Given the description of an element on the screen output the (x, y) to click on. 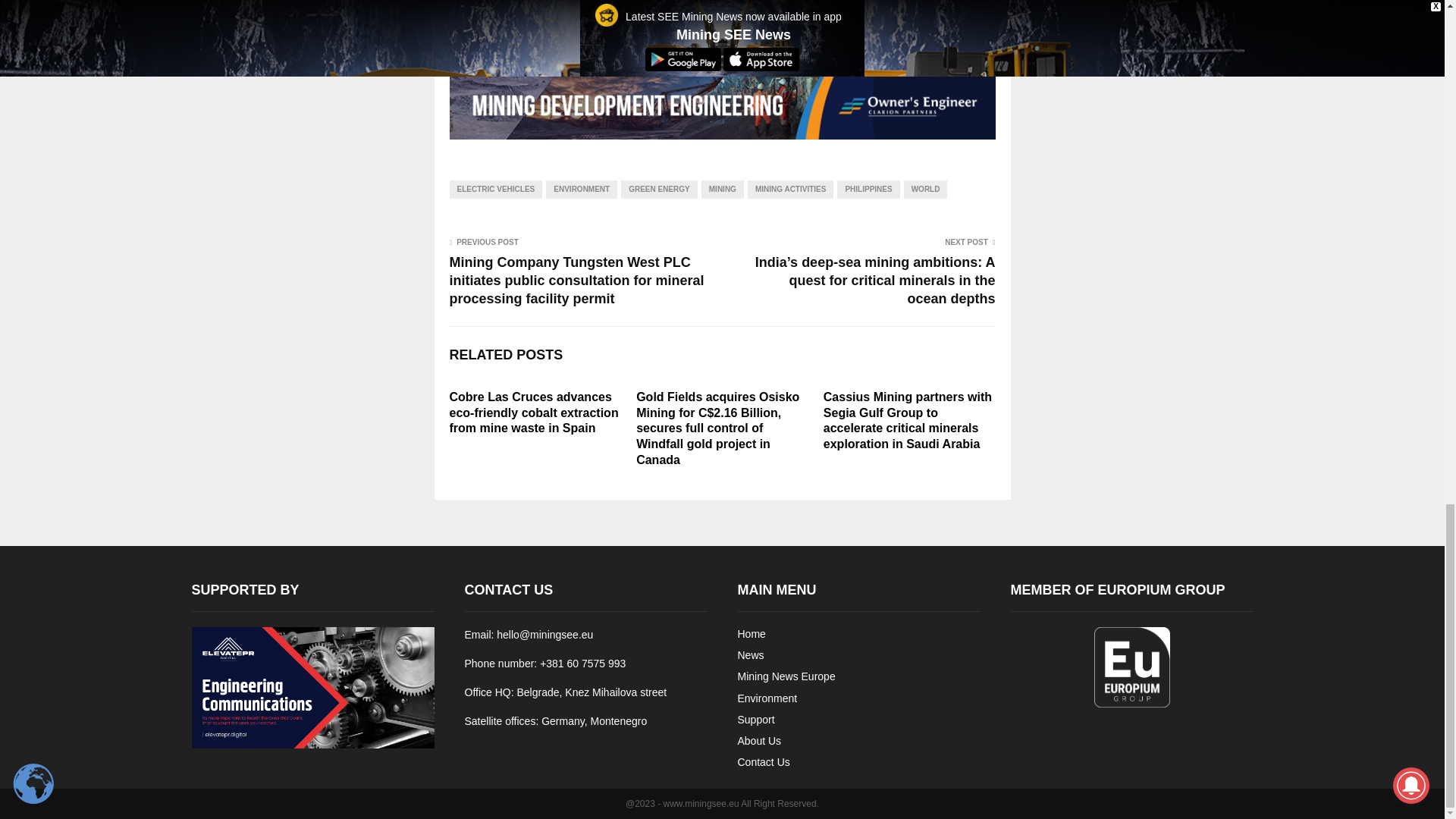
ELECTRIC VEHICLES (494, 189)
MINING (722, 189)
MINING ACTIVITIES (791, 189)
PHILIPPINES (868, 189)
GREEN ENERGY (659, 189)
WORLD (925, 189)
ENVIRONMENT (581, 189)
Supported by (721, 100)
